Given the description of an element on the screen output the (x, y) to click on. 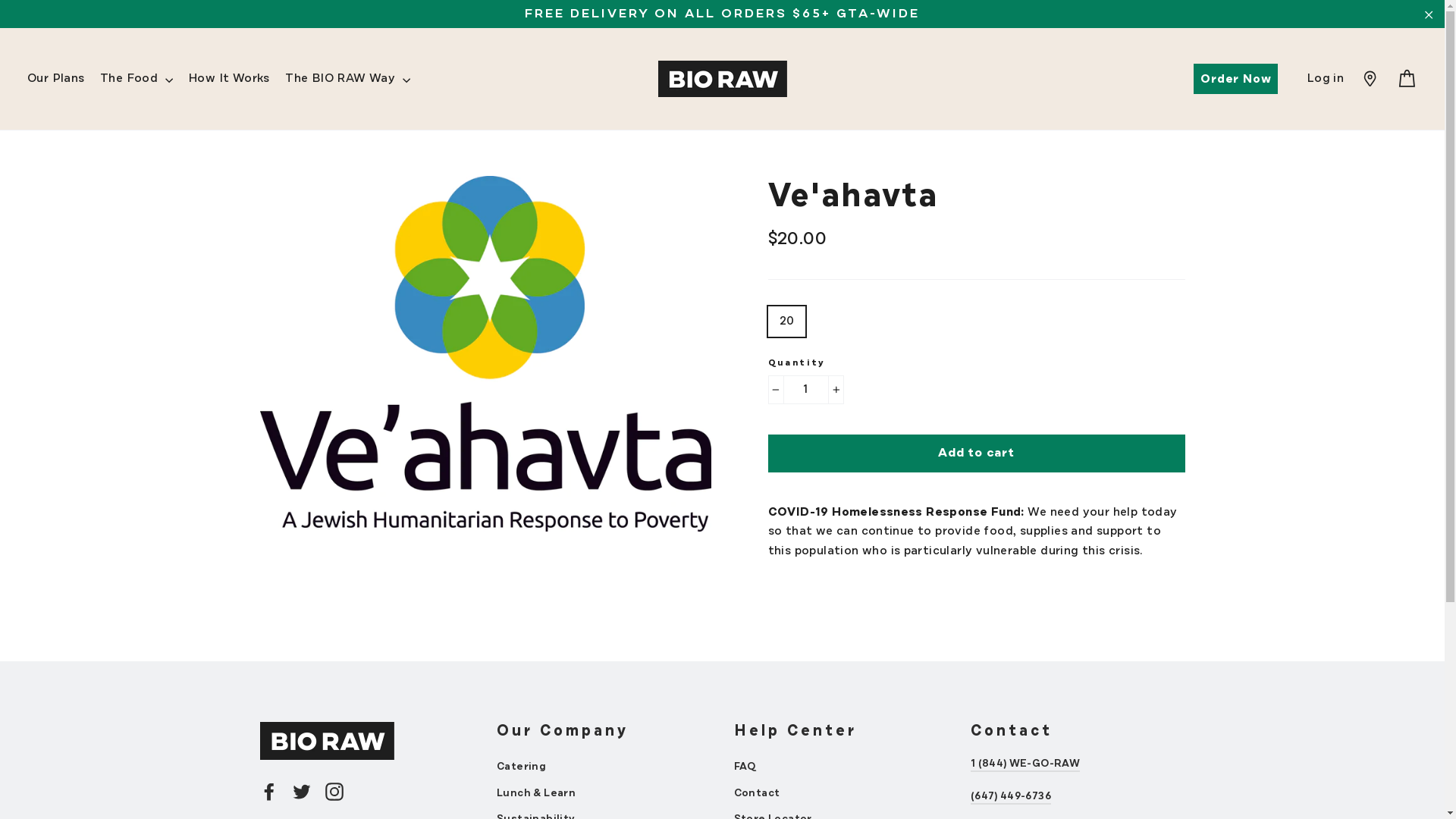
= Element type: text (1369, 78)
The Food Element type: text (136, 78)
Lunch & Learn Element type: text (603, 792)
FAQ Element type: text (841, 766)
Add to cart Element type: text (975, 453)
Facebook Element type: text (268, 790)
Catering Element type: text (603, 766)
Log in Element type: text (1324, 78)
How It Works Element type: text (229, 78)
FREE DELIVERY ON ALL ORDERS $65+ GTA-WIDE Element type: text (722, 14)
Skip to content Element type: text (0, 0)
"Close" Element type: text (1428, 13)
1 (844) WE-GO-RAW Element type: text (1024, 763)
(647) 449-6736 Element type: text (1010, 796)
Cart Element type: text (1406, 78)
The BIO RAW Way Element type: text (347, 78)
Contact Element type: text (841, 792)
Twitter Element type: text (301, 790)
+ Element type: text (836, 389)
Order Now Element type: text (1235, 78)
Our Plans Element type: text (56, 78)
Instagram Element type: text (334, 790)
